Given the description of an element on the screen output the (x, y) to click on. 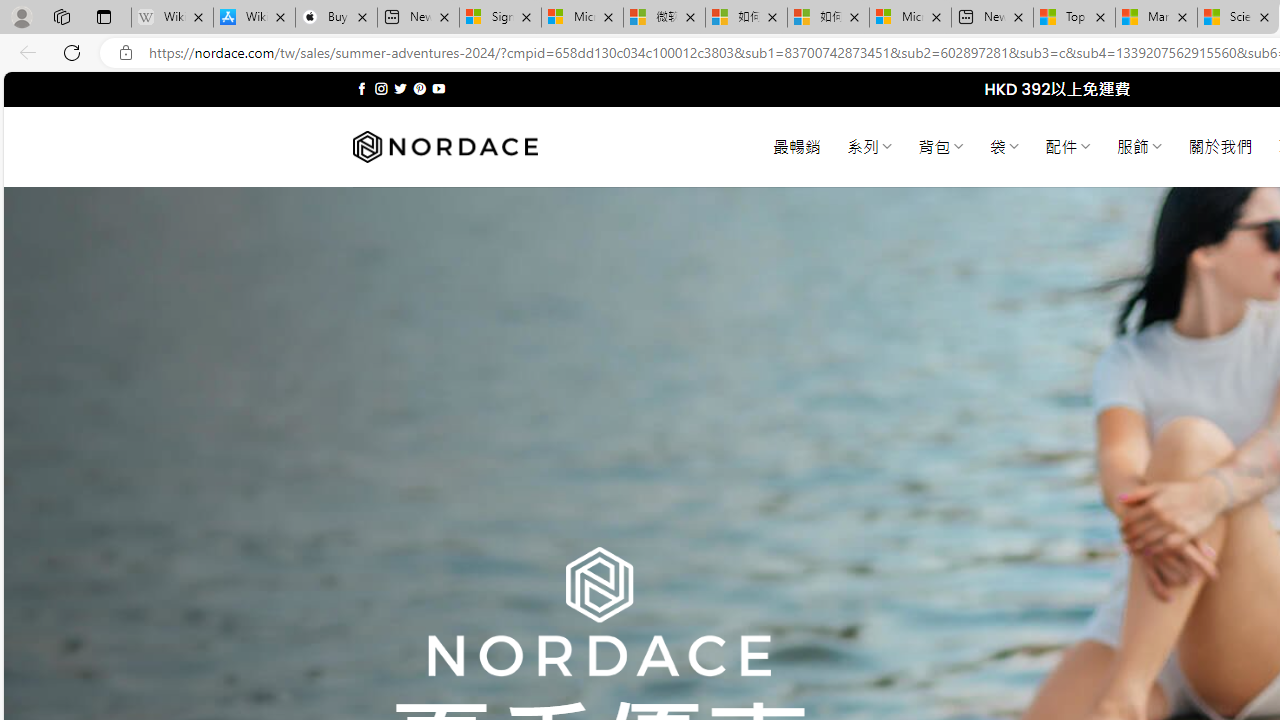
Follow on Twitter (400, 88)
Sign in to your Microsoft account (500, 17)
Nordace (444, 147)
Follow on Pinterest (419, 88)
Follow on YouTube (438, 88)
